Given the description of an element on the screen output the (x, y) to click on. 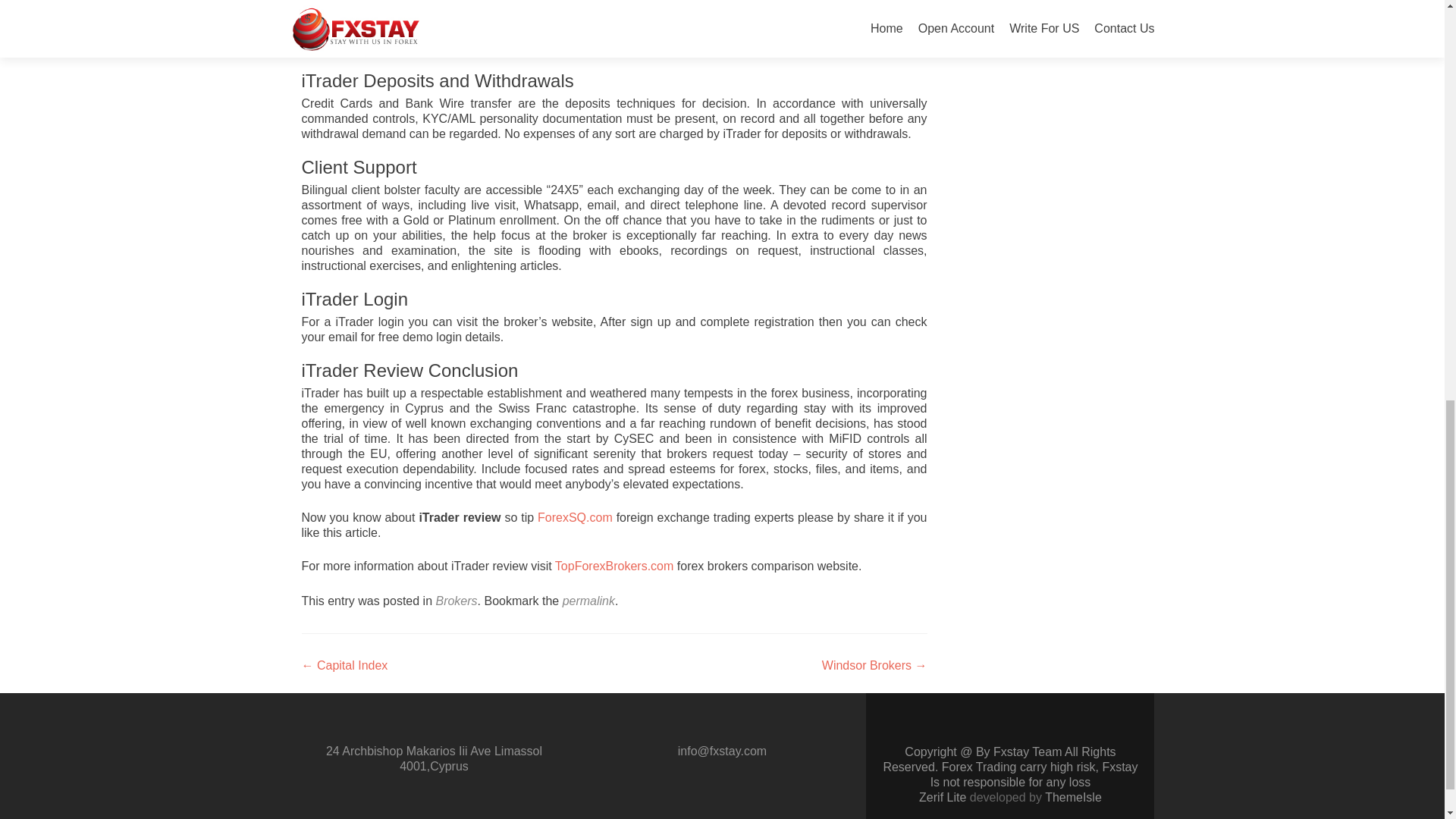
Brokers (456, 600)
permalink (588, 600)
TopForexBrokers.com (614, 565)
Zerif Lite (943, 797)
ForexSQ.com (574, 517)
ThemeIsle (1073, 797)
